Given the description of an element on the screen output the (x, y) to click on. 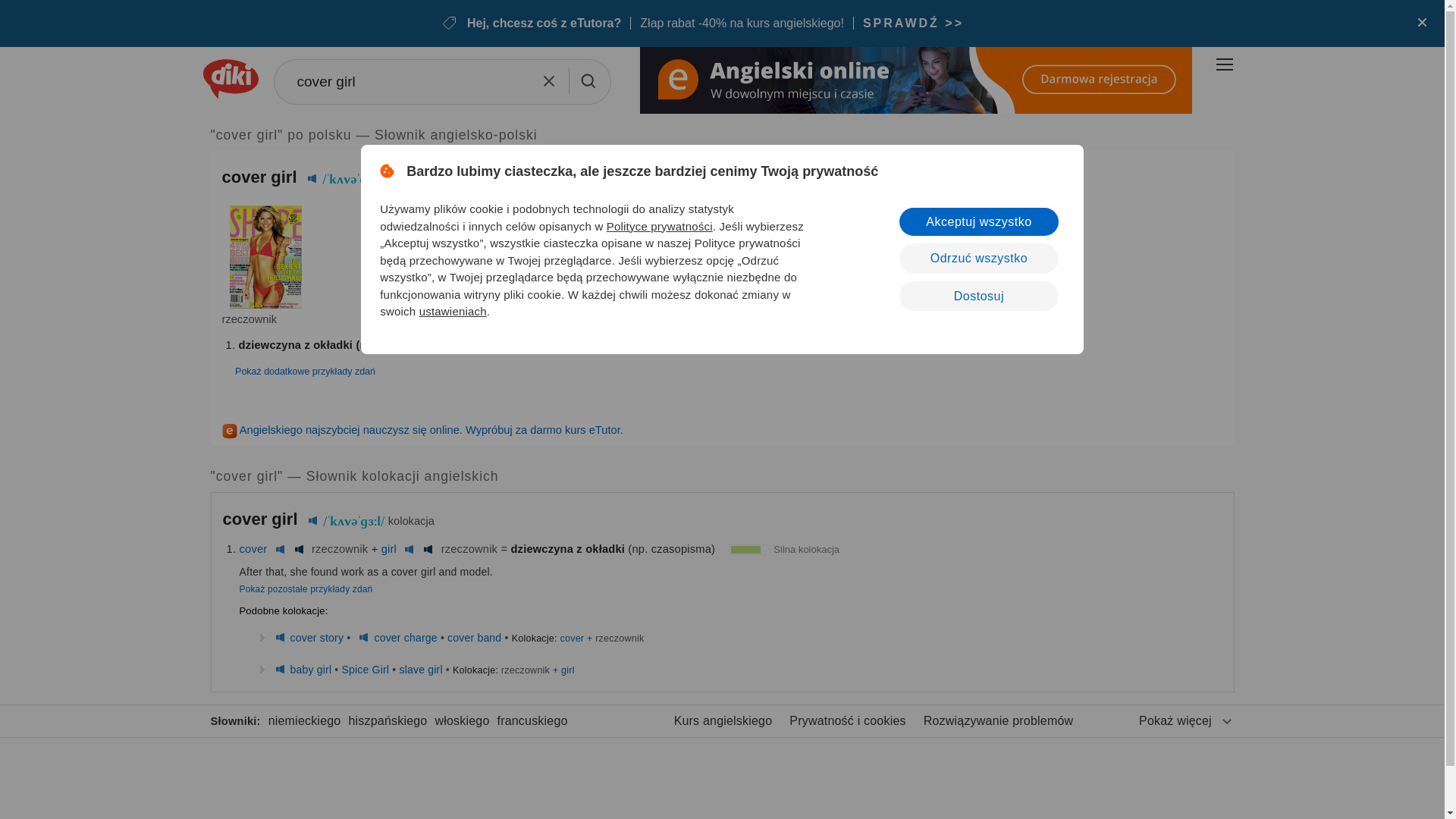
British English (363, 637)
baby girl (310, 669)
American English (428, 548)
girl (388, 548)
British English (408, 548)
British English (312, 521)
British English (279, 669)
cover charge (405, 637)
British English (279, 548)
American English (298, 548)
cover story (316, 637)
Szukaj (587, 80)
cover girl (441, 81)
cover girl (441, 81)
cover (253, 548)
